Given the description of an element on the screen output the (x, y) to click on. 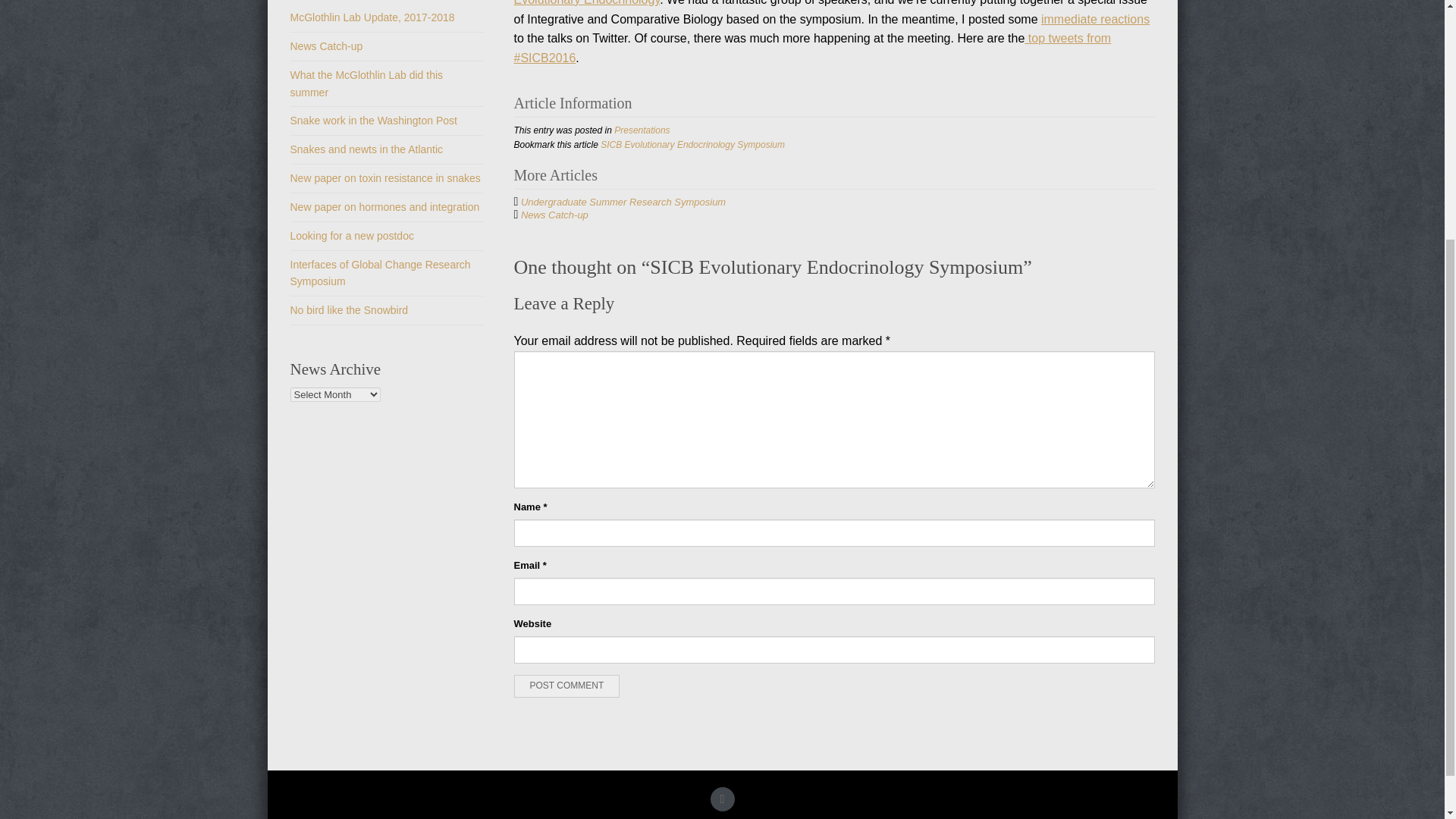
McGlothlin Lab Update, 2017-2018 (371, 17)
News Catch-up (325, 46)
immediate reactions (1095, 19)
New paper on toxin resistance in snakes (384, 177)
Looking for a new postdoc (351, 235)
Post Comment (566, 685)
What the McGlothlin Lab did this summer (365, 83)
Twitter (721, 799)
Snakes and newts in the Atlantic (365, 149)
New paper on hormones and integration (384, 206)
No bird like the Snowbird (348, 309)
Interfaces of Global Change Research Symposium (379, 273)
Snake work in the Washington Post (373, 120)
